Given the description of an element on the screen output the (x, y) to click on. 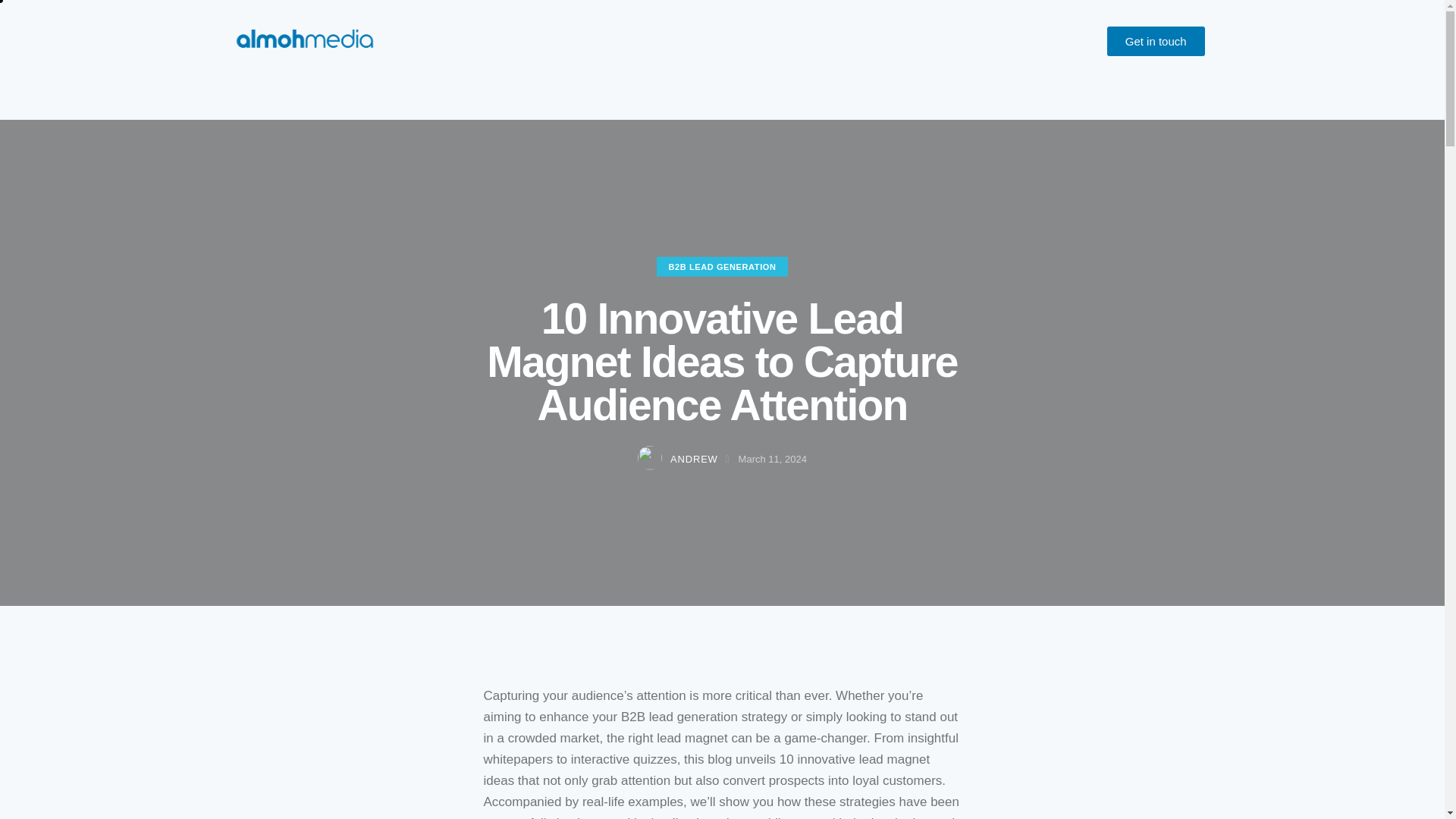
ANDREW (686, 459)
Get in touch (1155, 41)
B2B LEAD GENERATION (722, 266)
